Given the description of an element on the screen output the (x, y) to click on. 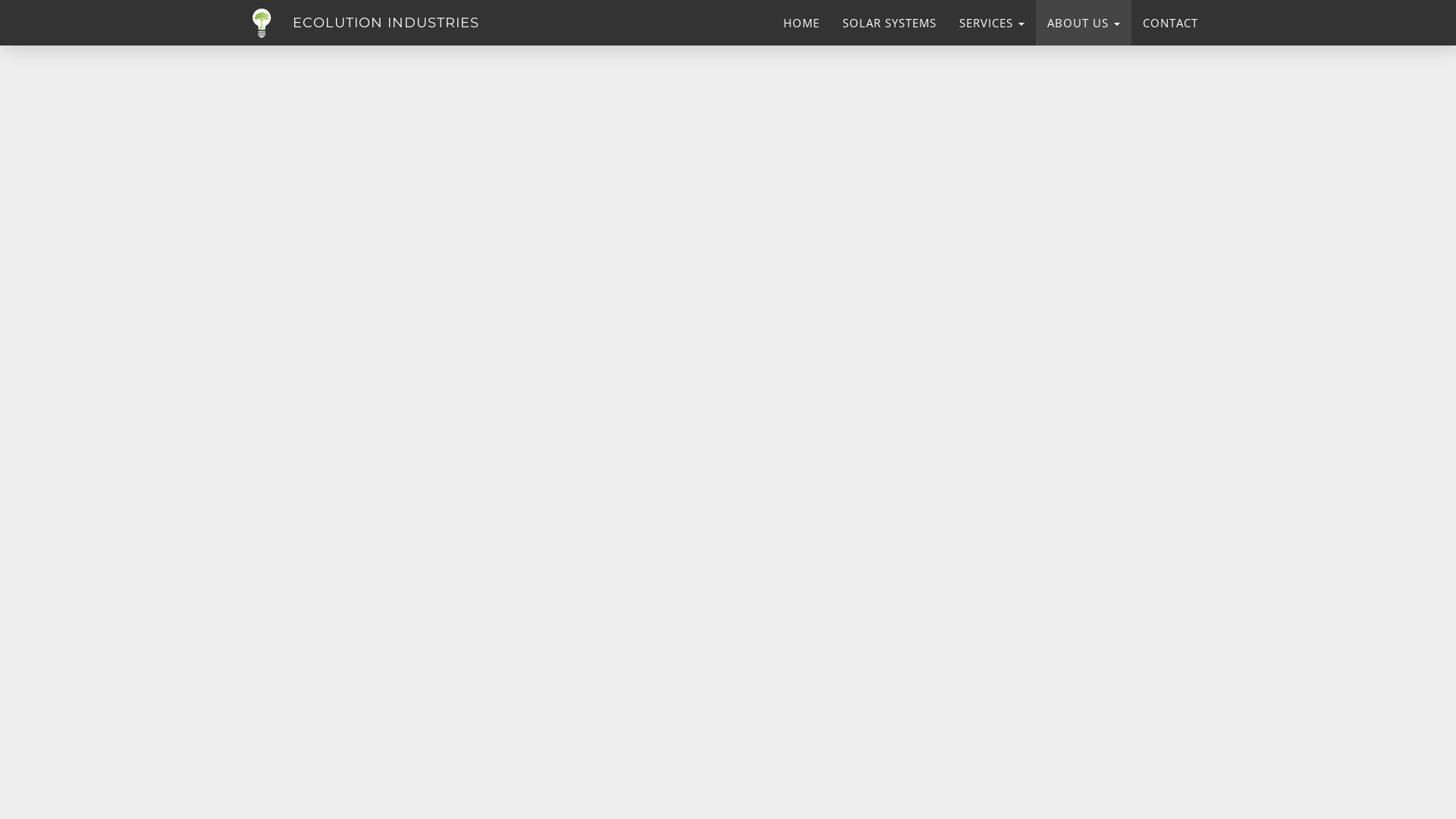
CONTACT Element type: text (1170, 22)
SERVICES Element type: text (991, 22)
ABOUT US Element type: text (1083, 22)
HOME Element type: text (801, 22)
ECOLUTION INDUSTRIES Element type: text (385, 22)
SOLAR SYSTEMS Element type: text (889, 22)
